Given the description of an element on the screen output the (x, y) to click on. 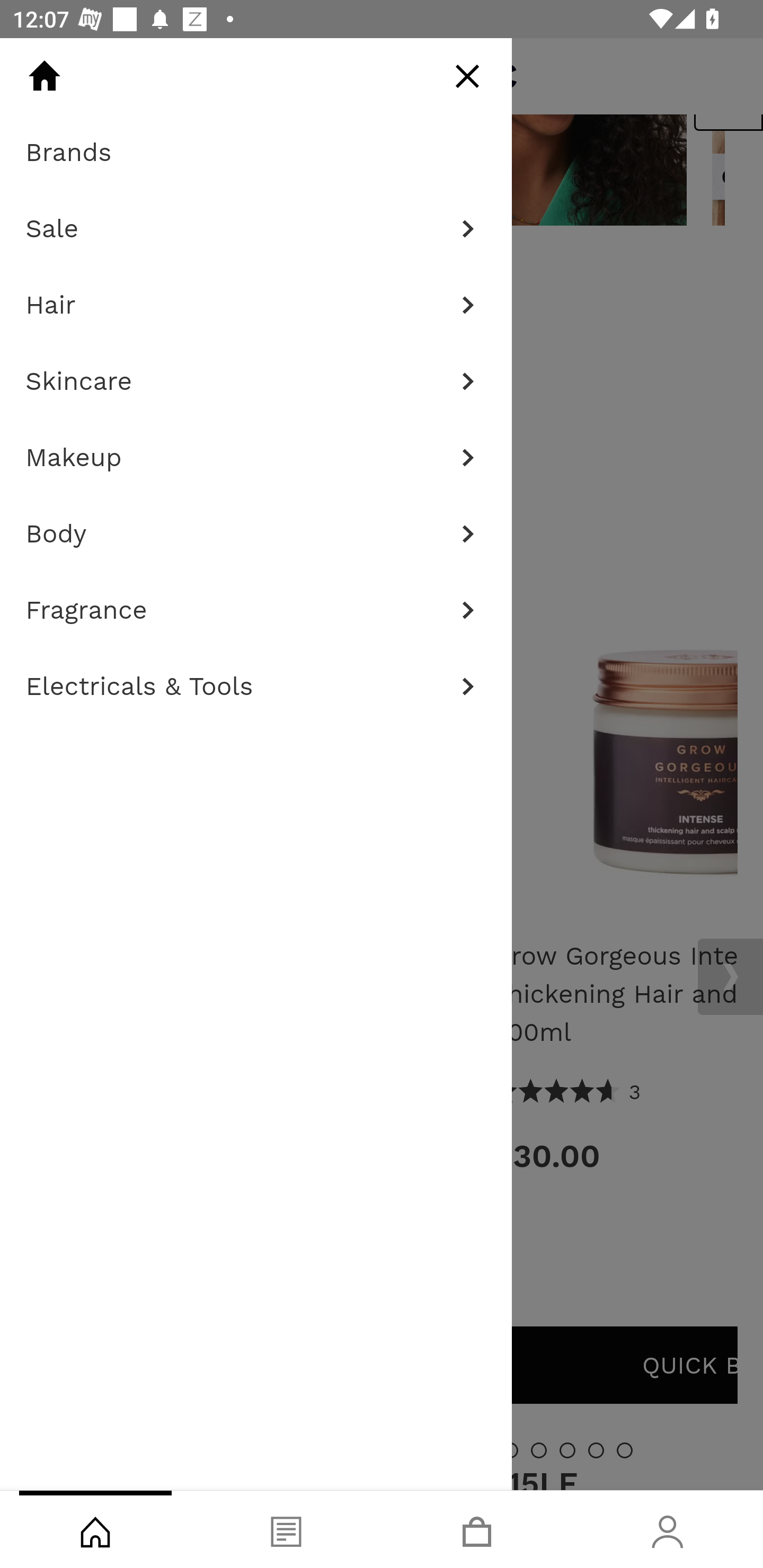
Previous (35, 90)
Shop, tab, 1 of 4 (95, 1529)
Blog, tab, 2 of 4 (285, 1529)
Basket, tab, 3 of 4 (476, 1529)
Account, tab, 4 of 4 (667, 1529)
